Given the description of an element on the screen output the (x, y) to click on. 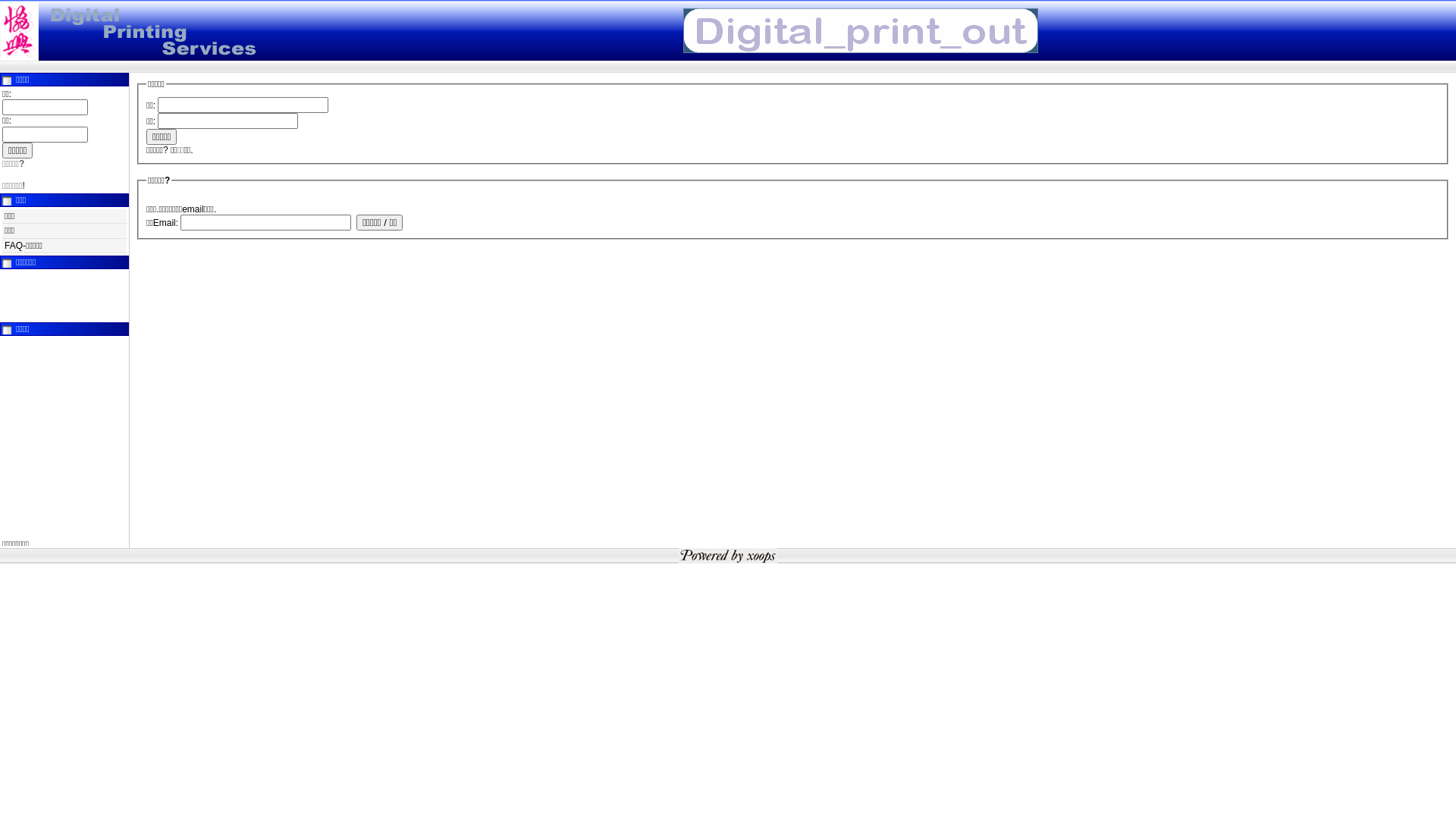
ceo@24900797.com Element type: text (59, 460)
ceo@24900797.com Element type: text (59, 319)
